Given the description of an element on the screen output the (x, y) to click on. 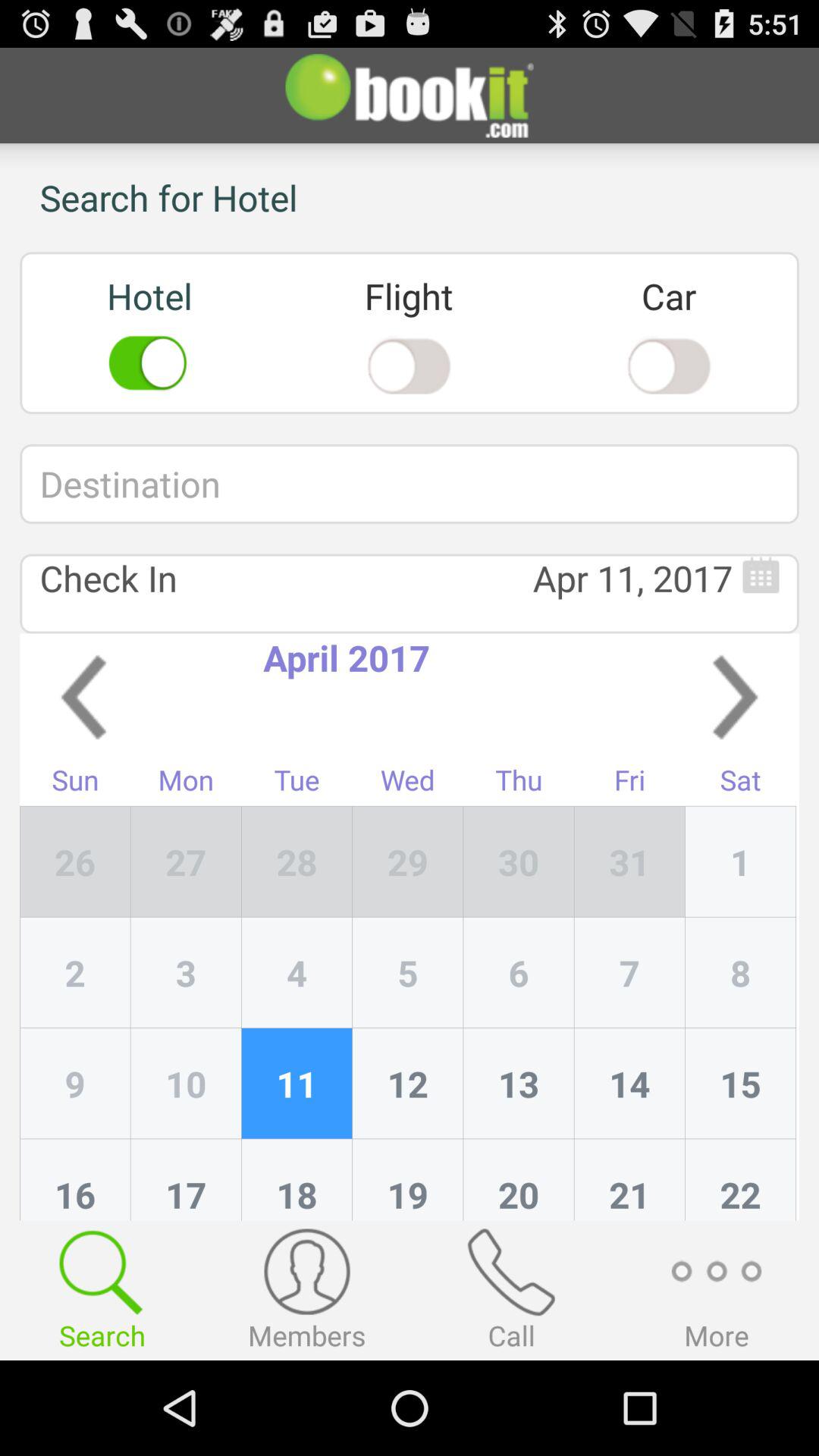
turn on icon next to 2 item (185, 1083)
